Given the description of an element on the screen output the (x, y) to click on. 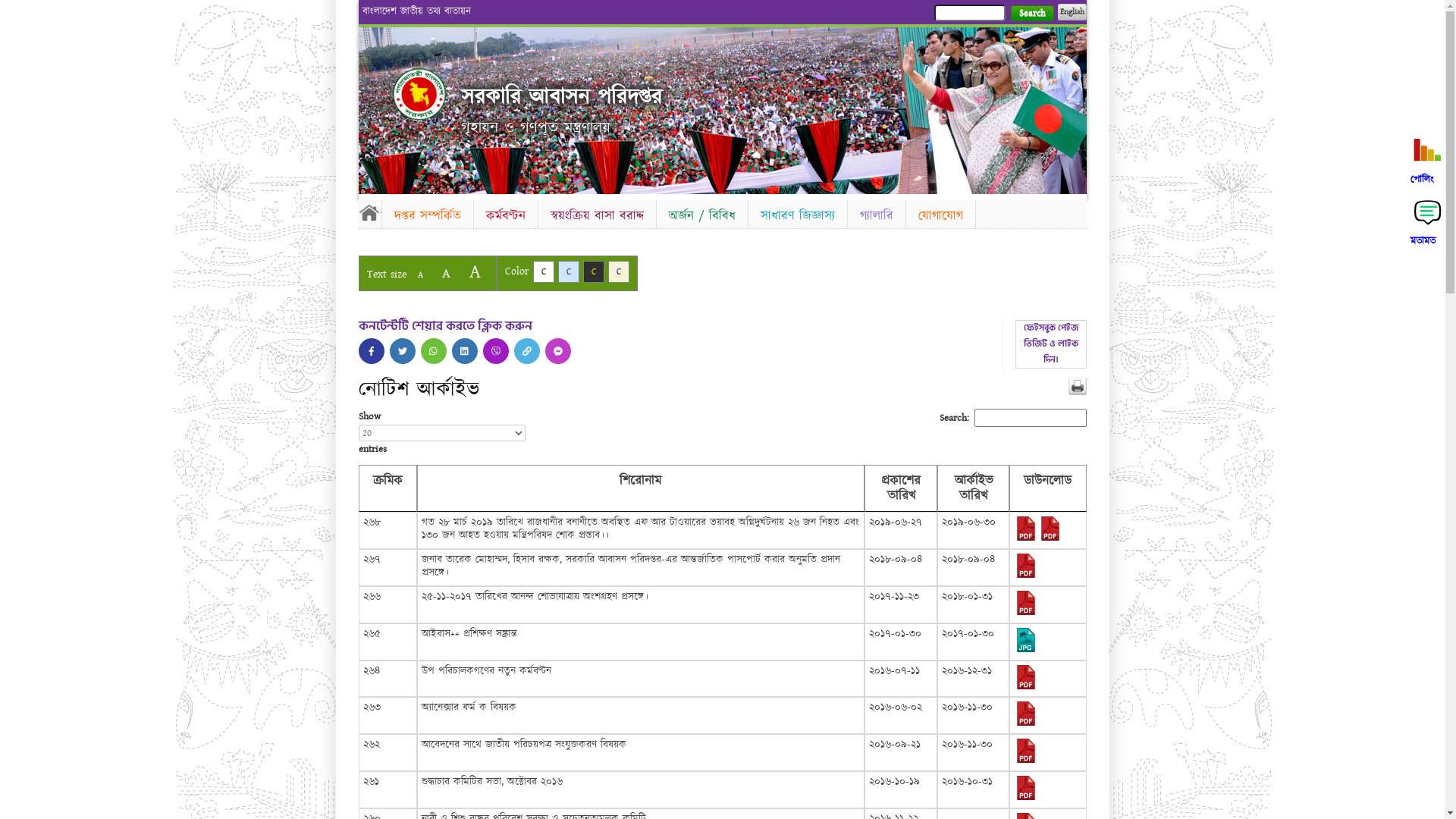
English Element type: text (1071, 11)

					
				 Element type: hover (418, 93)

    
     Element type: hover (464, 351)
A Element type: text (474, 271)
A Element type: text (445, 273)
A Element type: text (419, 274)
C Element type: text (568, 271)
C Element type: text (618, 271)
C Element type: text (542, 271)
C Element type: text (592, 271)
Search Element type: text (1031, 13)
